Given the description of an element on the screen output the (x, y) to click on. 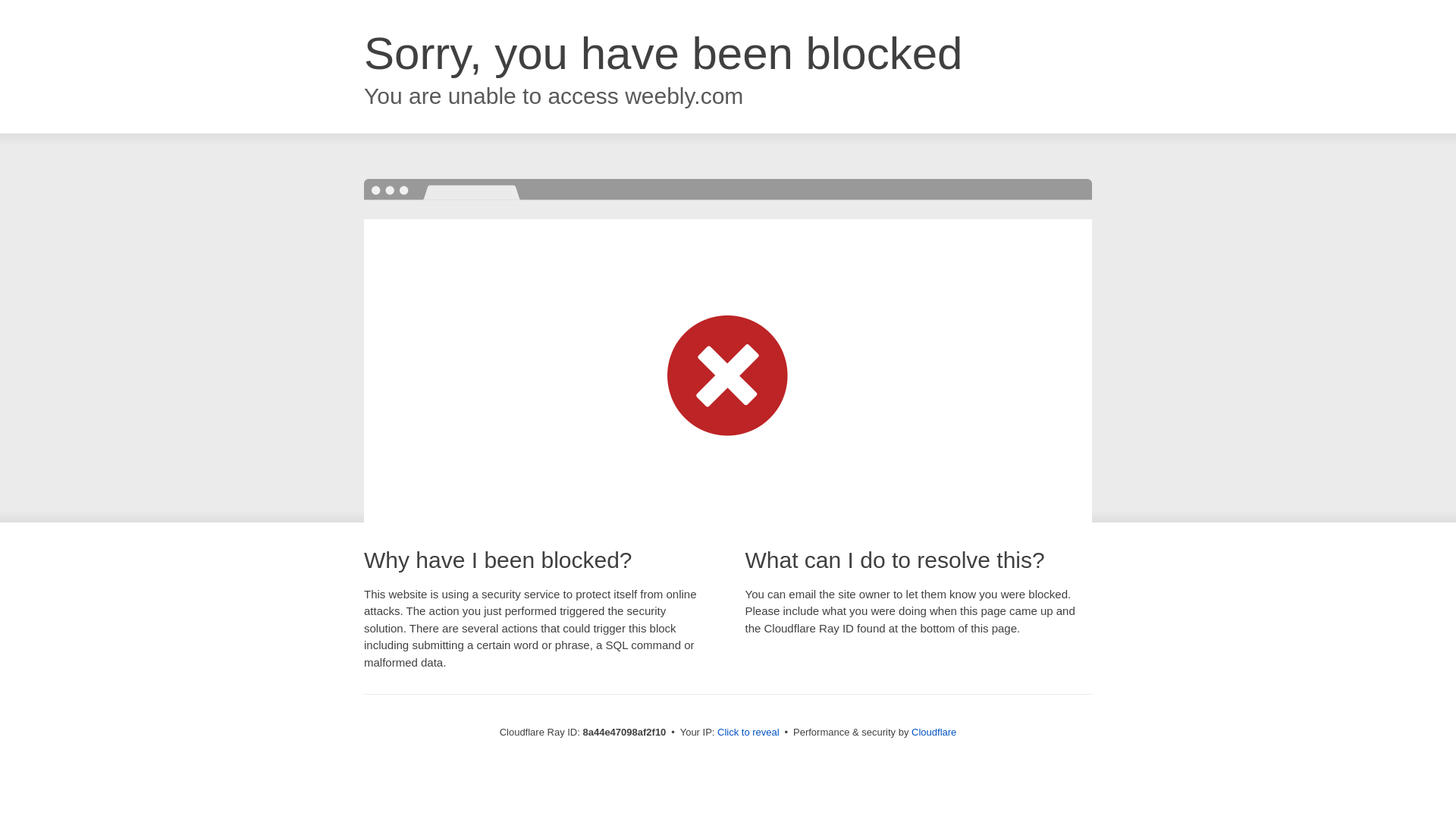
Cloudflare (933, 731)
Click to reveal (747, 732)
